Given the description of an element on the screen output the (x, y) to click on. 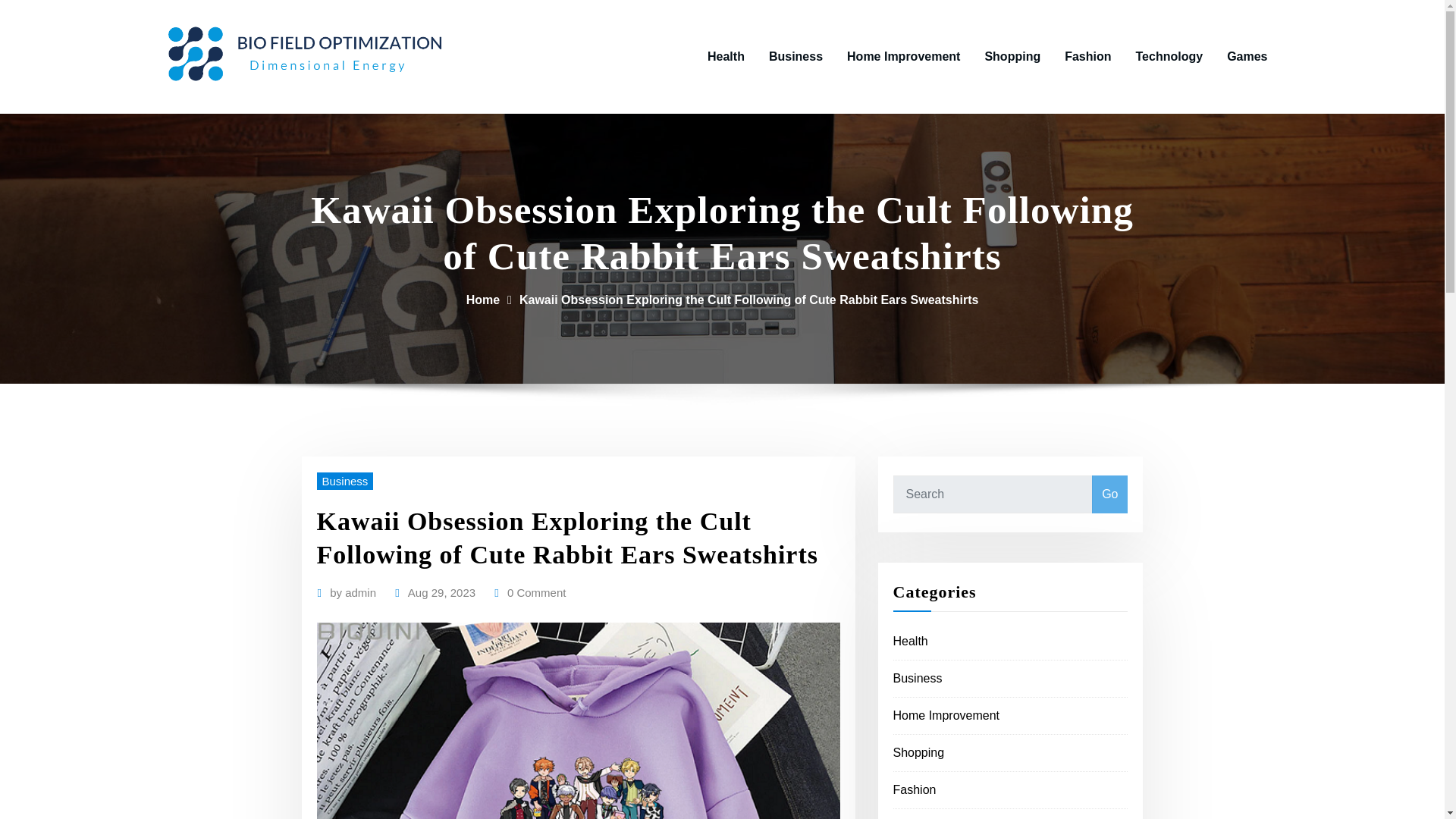
Fashion (1087, 56)
0 Comment (536, 592)
Business (795, 56)
by admin (352, 592)
Home Improvement (903, 56)
Health (910, 640)
Home Improvement (946, 715)
Shopping (918, 752)
Go (1109, 494)
Business (917, 677)
